Given the description of an element on the screen output the (x, y) to click on. 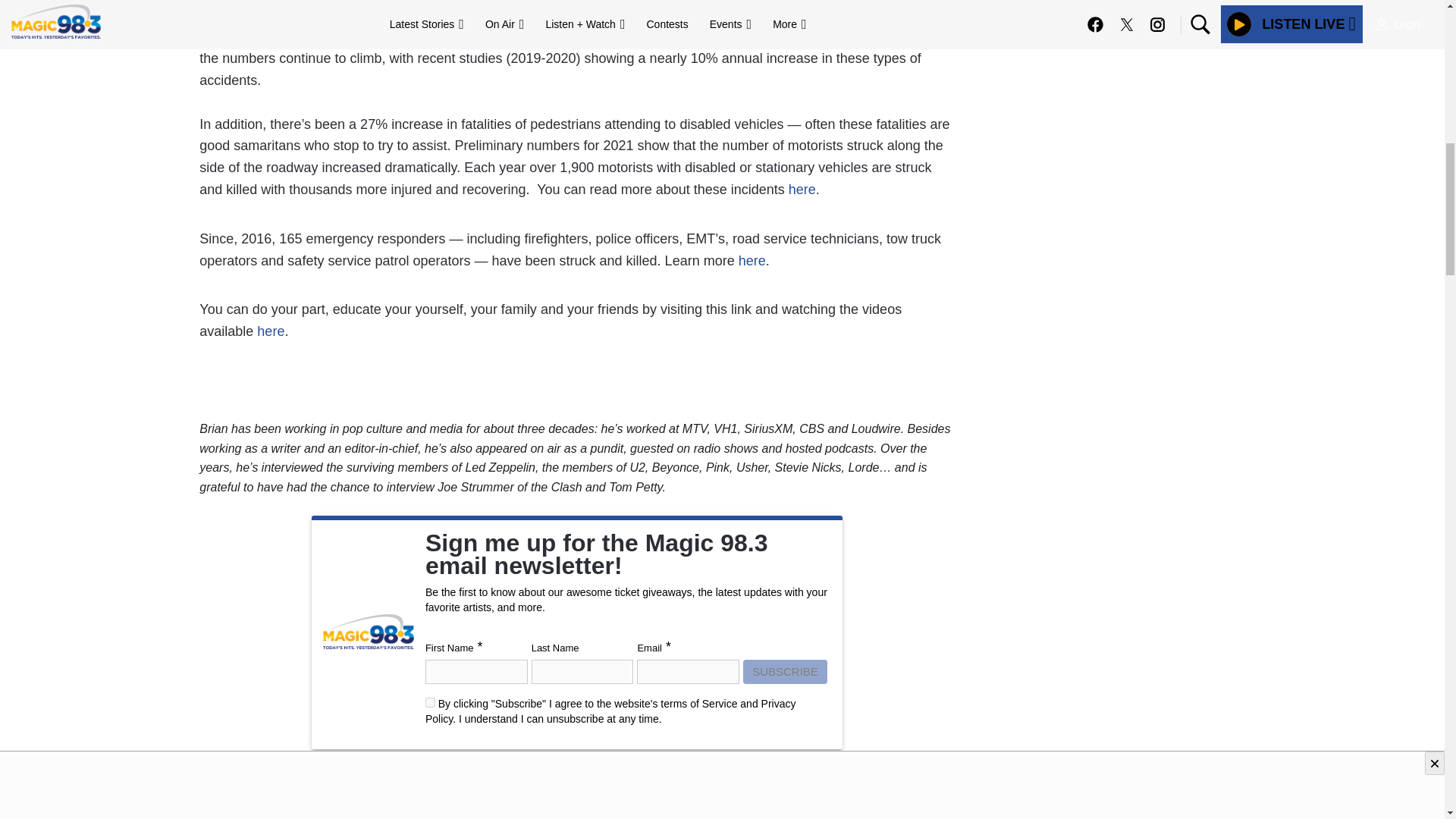
on (430, 702)
